Given the description of an element on the screen output the (x, y) to click on. 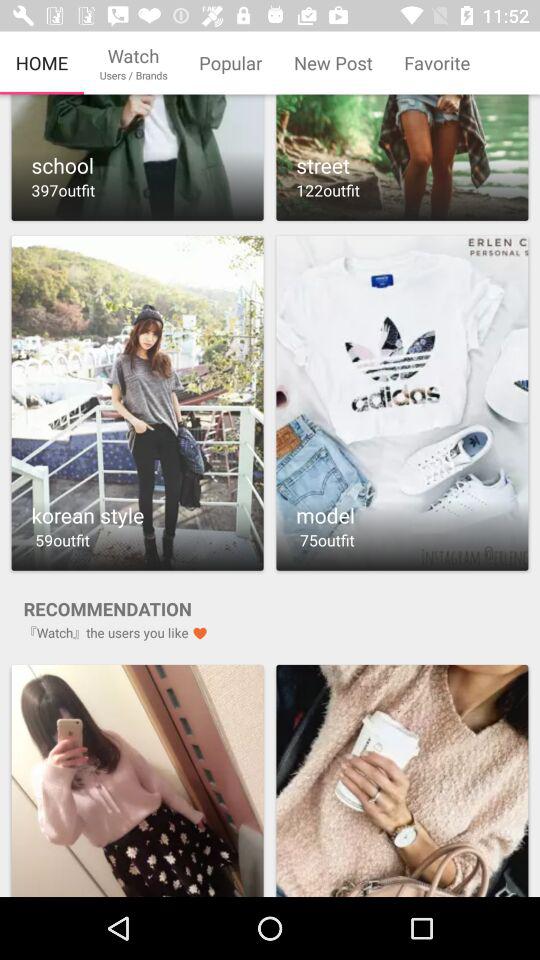
outfit selection (137, 780)
